Given the description of an element on the screen output the (x, y) to click on. 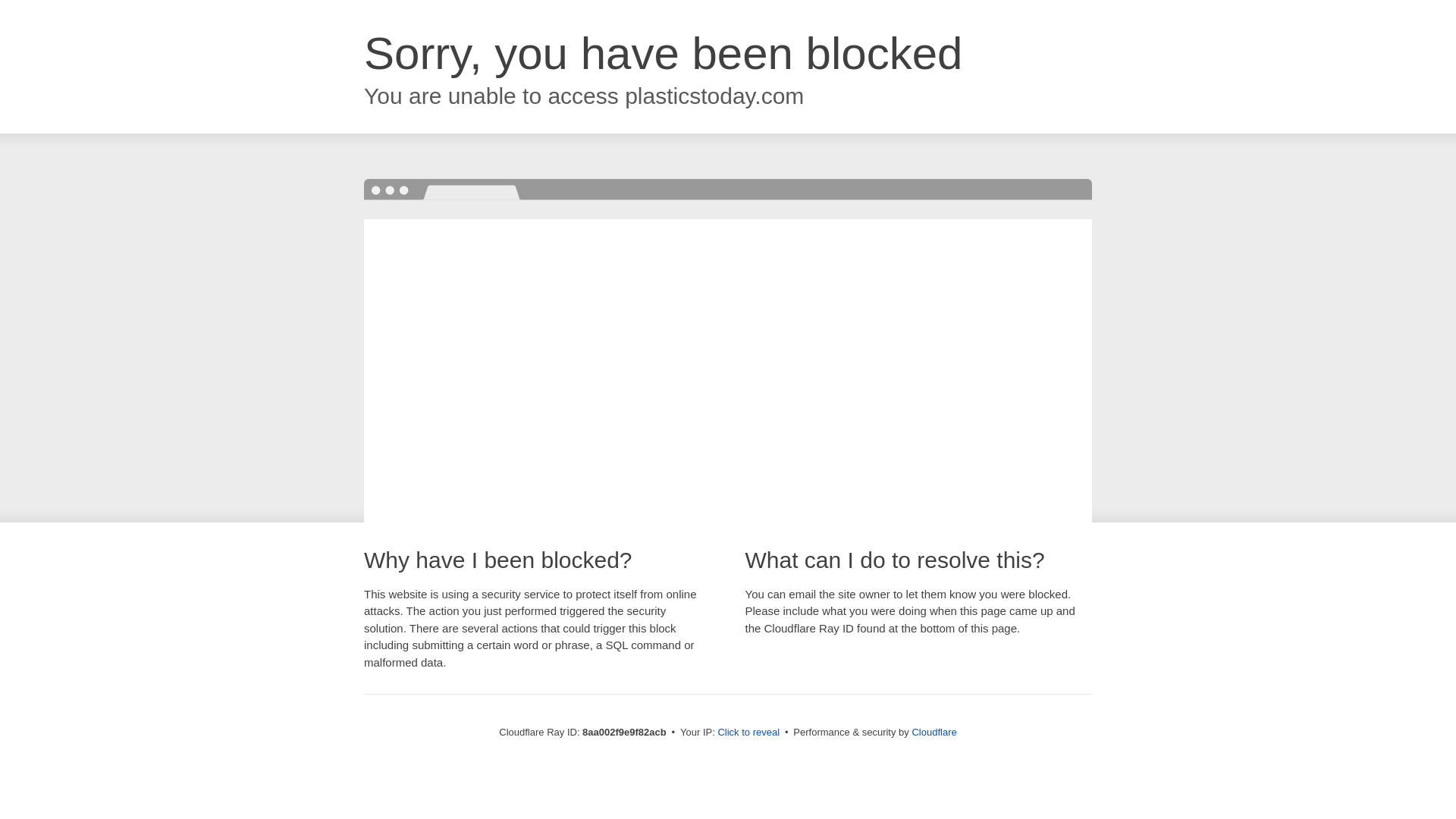
Click to reveal (747, 732)
Cloudflare (933, 731)
